Given the description of an element on the screen output the (x, y) to click on. 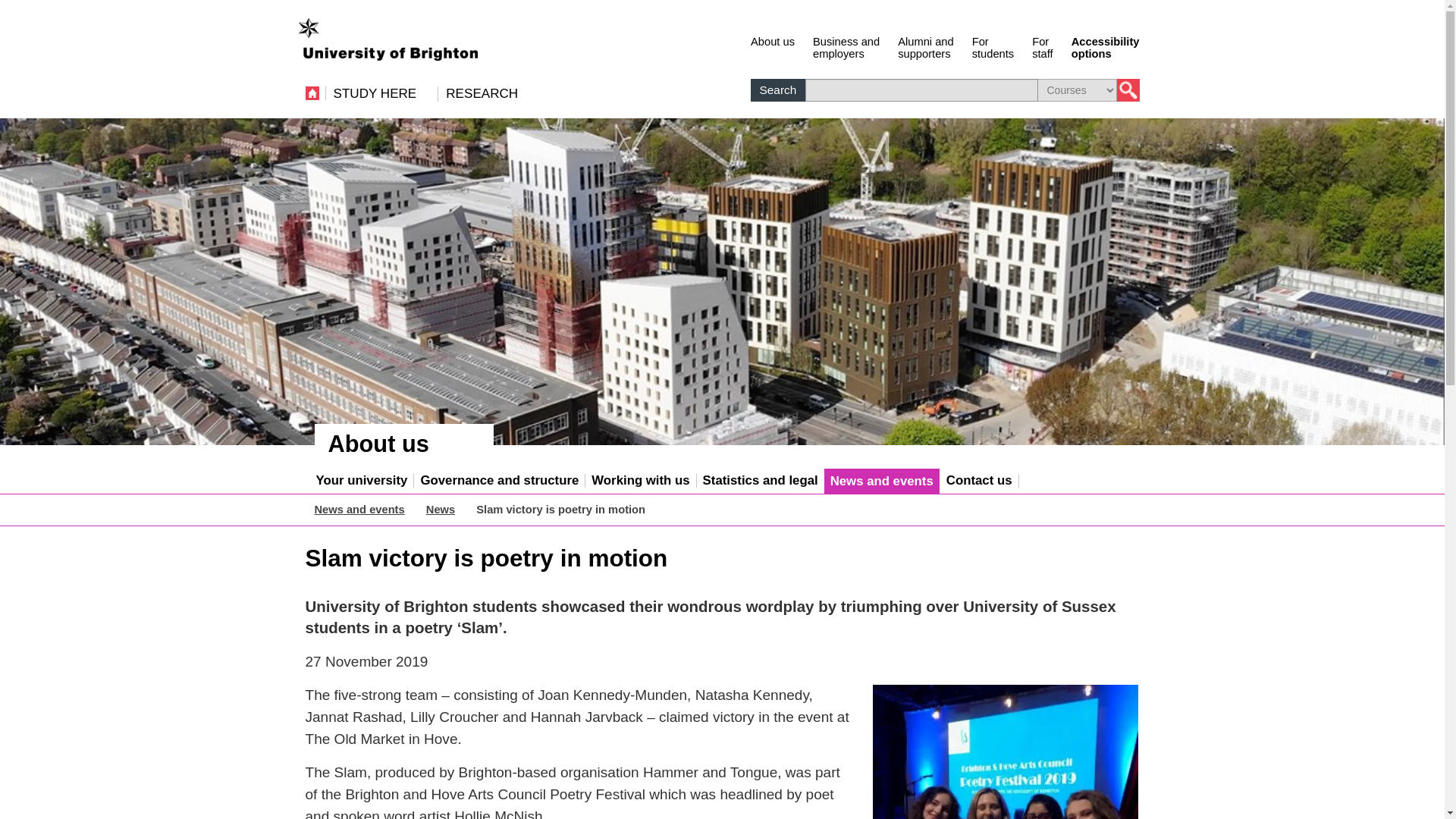
For staff (845, 46)
Alumni and supporters (925, 46)
About us (993, 46)
For students (1042, 46)
Business and employers (925, 46)
Accessibility options (772, 46)
Study here (993, 46)
